Given the description of an element on the screen output the (x, y) to click on. 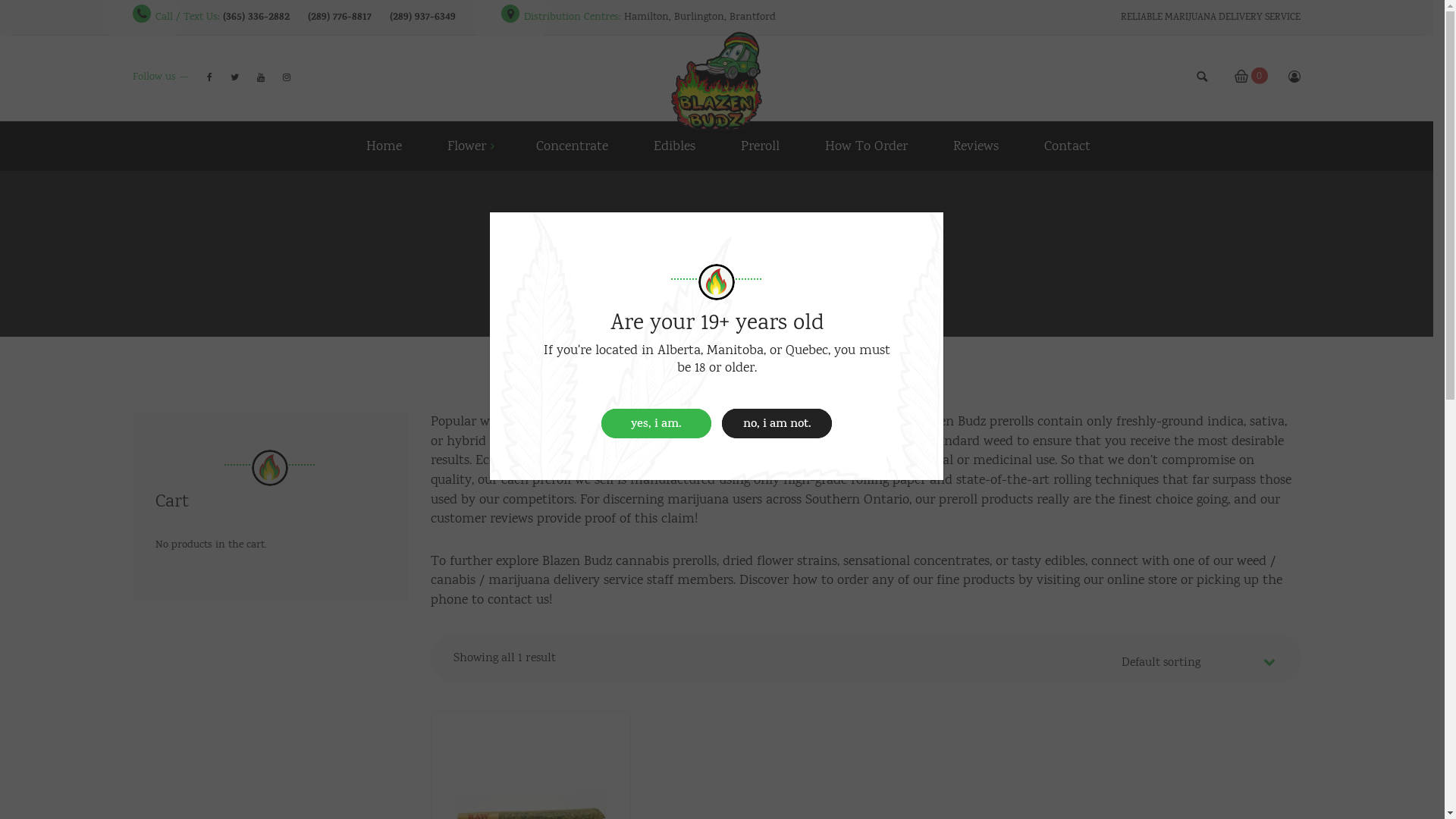
Edibles Element type: text (674, 149)
Preroll Element type: text (759, 149)
Contact Element type: text (1054, 149)
Flower Element type: text (466, 149)
Home Element type: text (382, 149)
How To Order Element type: text (866, 149)
Reviews Element type: text (974, 149)
0 Element type: text (1248, 78)
Concentrate Element type: text (571, 149)
